Given the description of an element on the screen output the (x, y) to click on. 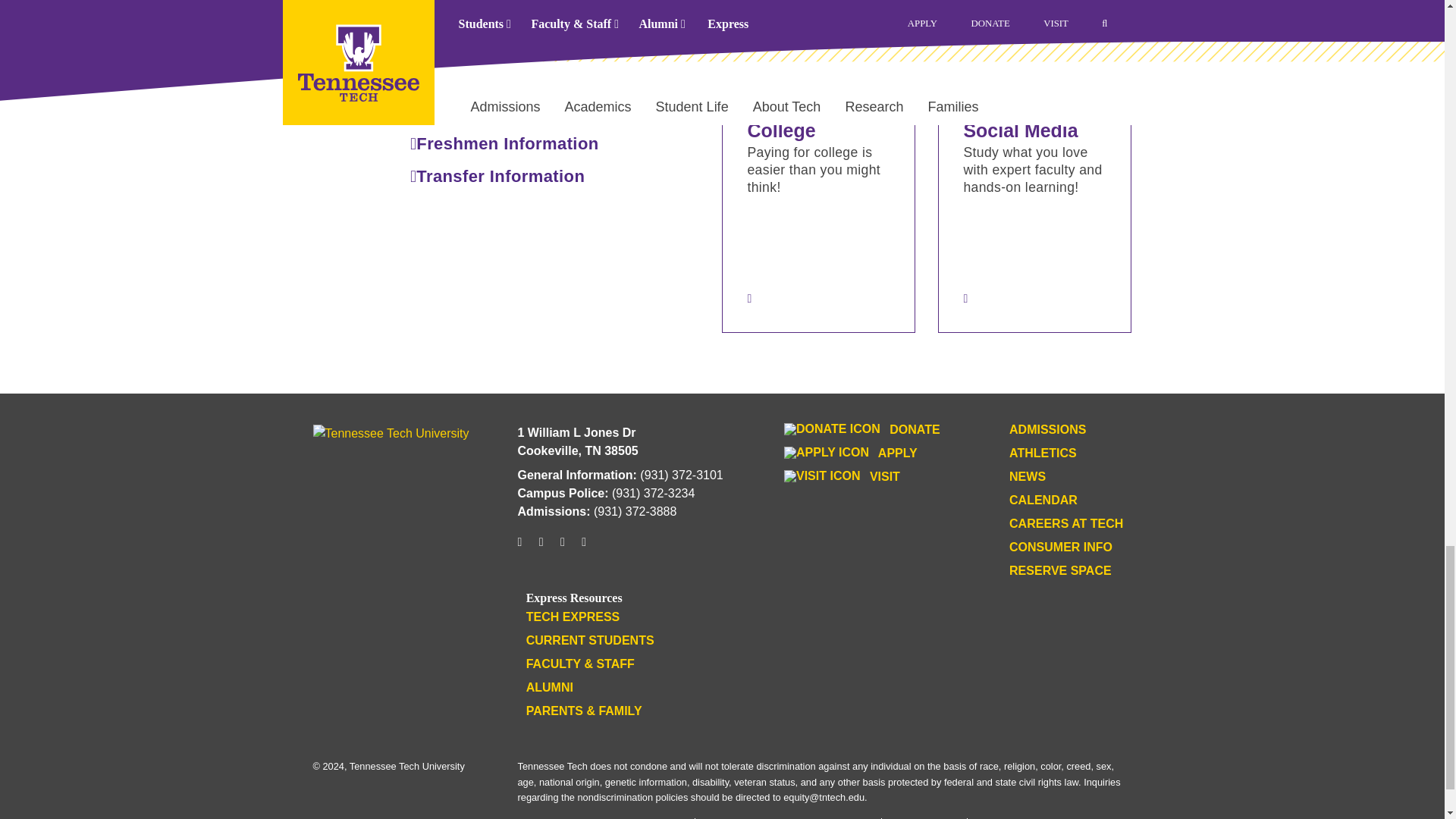
Facebook (541, 547)
Email (583, 547)
YouTube (562, 547)
